Given the description of an element on the screen output the (x, y) to click on. 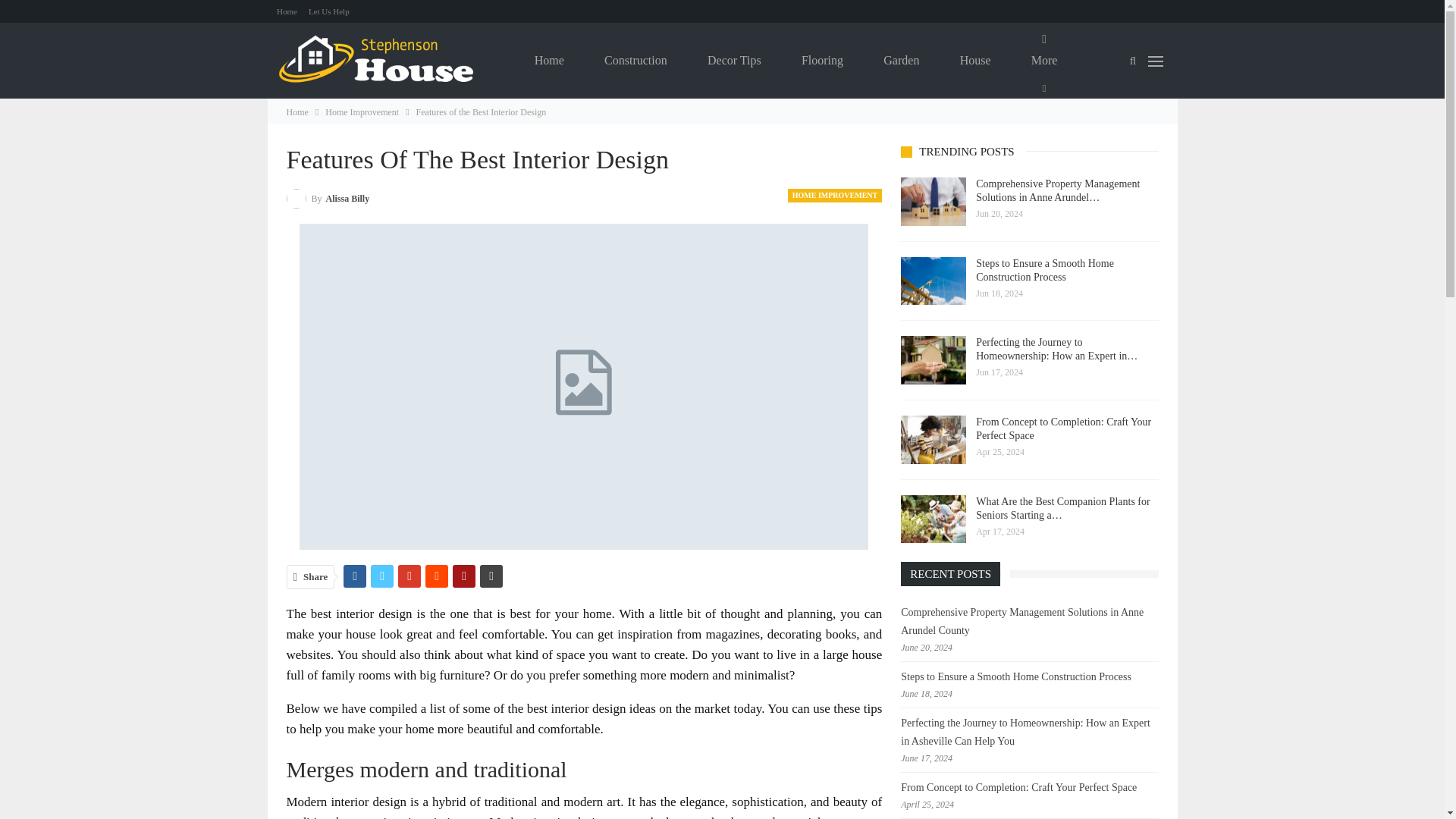
Garden (900, 60)
Home Improvement (361, 112)
Browse Author Articles (327, 198)
Flooring (822, 60)
Let Us Help (328, 10)
Home (549, 60)
House (975, 60)
HOME IMPROVEMENT (834, 195)
Decor Tips (734, 60)
Construction (635, 60)
Home (286, 10)
By Alissa Billy (327, 198)
Home (297, 112)
Steps to Ensure a Smooth Home Construction Process (933, 281)
